Given the description of an element on the screen output the (x, y) to click on. 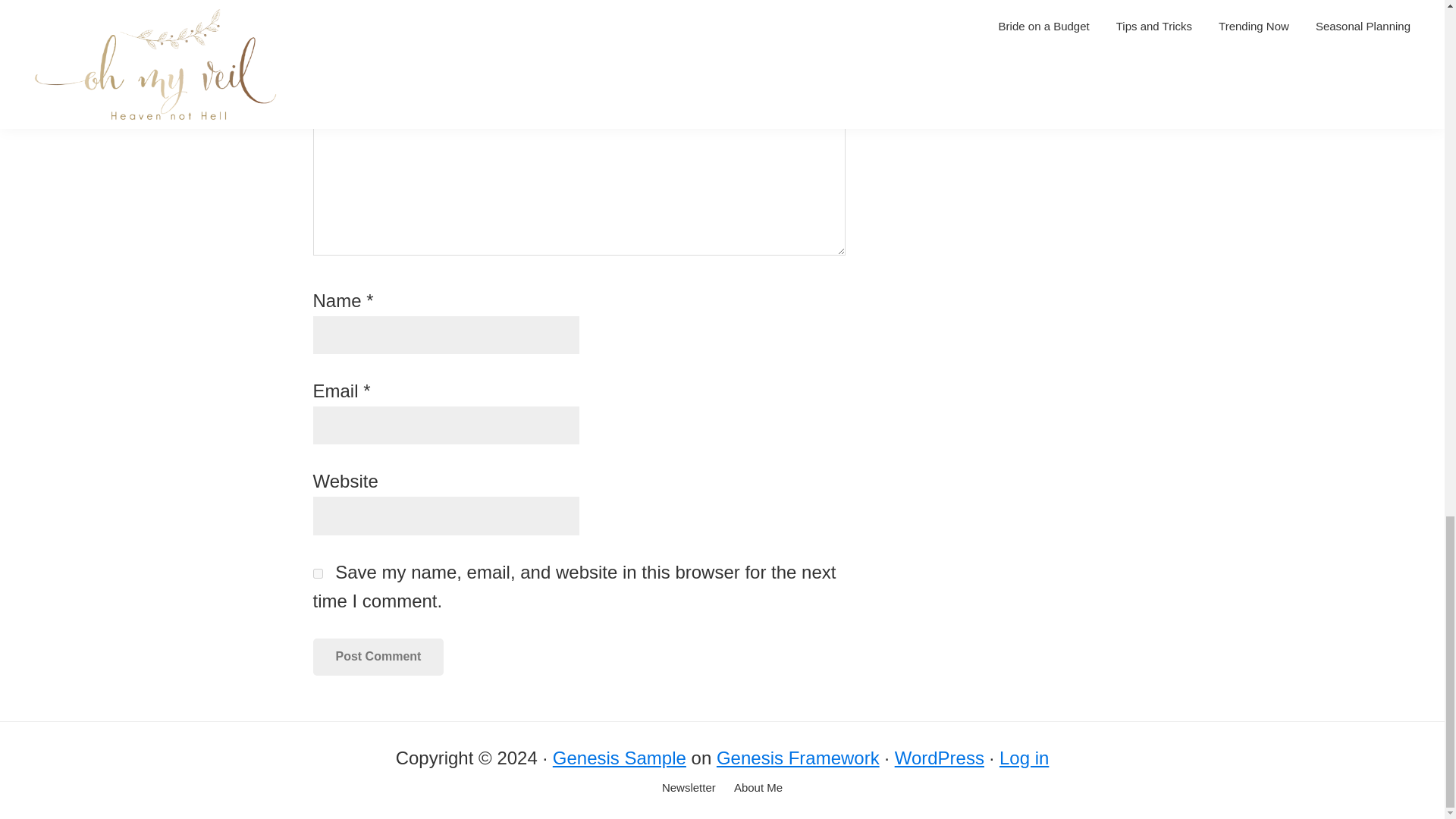
WordPress (939, 757)
Log in (1023, 757)
Genesis Sample (619, 757)
yes (317, 573)
Post Comment (378, 656)
Genesis Framework (797, 757)
Newsletter (689, 787)
Post Comment (378, 656)
